Given the description of an element on the screen output the (x, y) to click on. 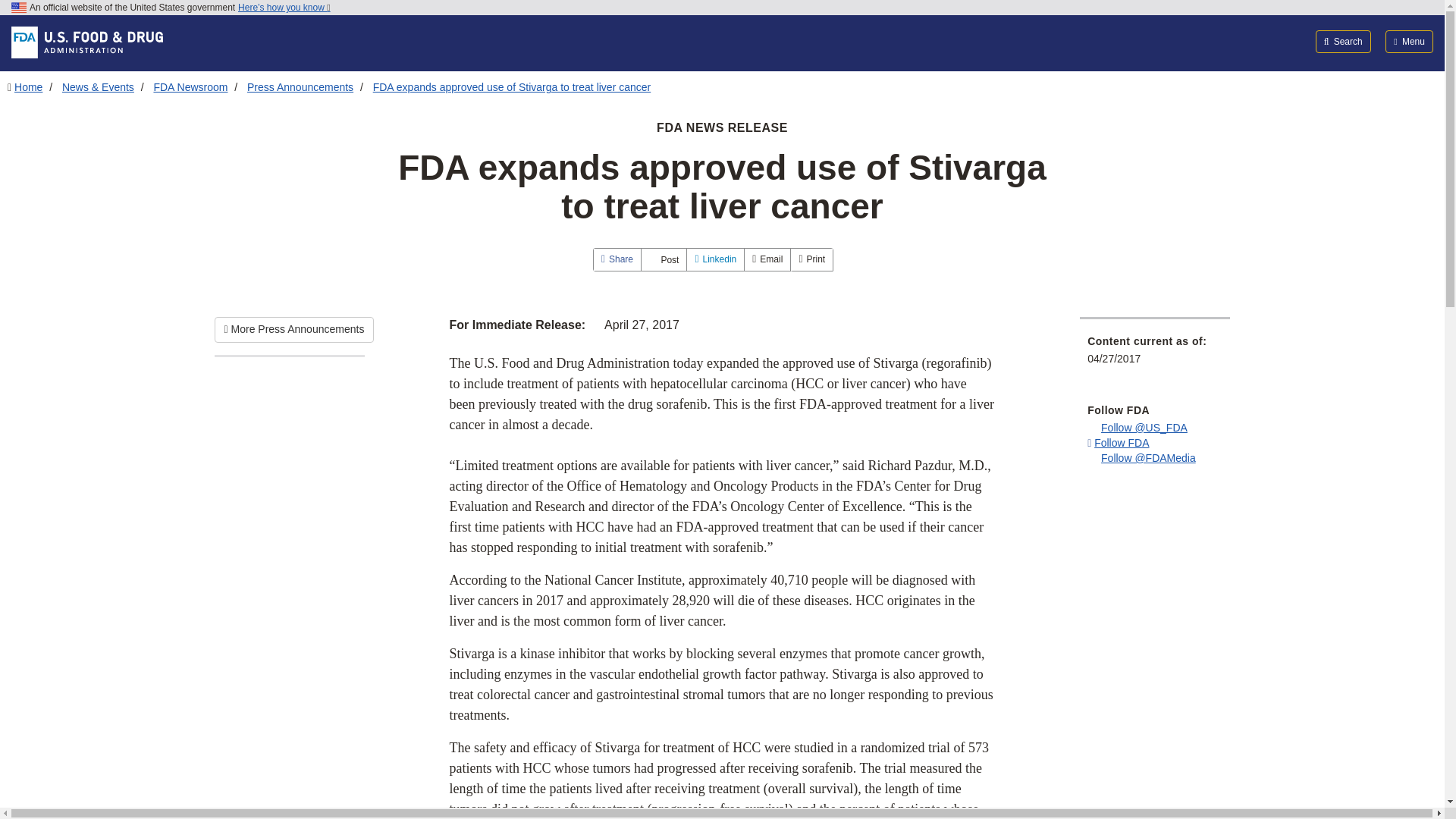
Print this page (811, 259)
  Search (1343, 41)
  Menu (1409, 41)
